Given the description of an element on the screen output the (x, y) to click on. 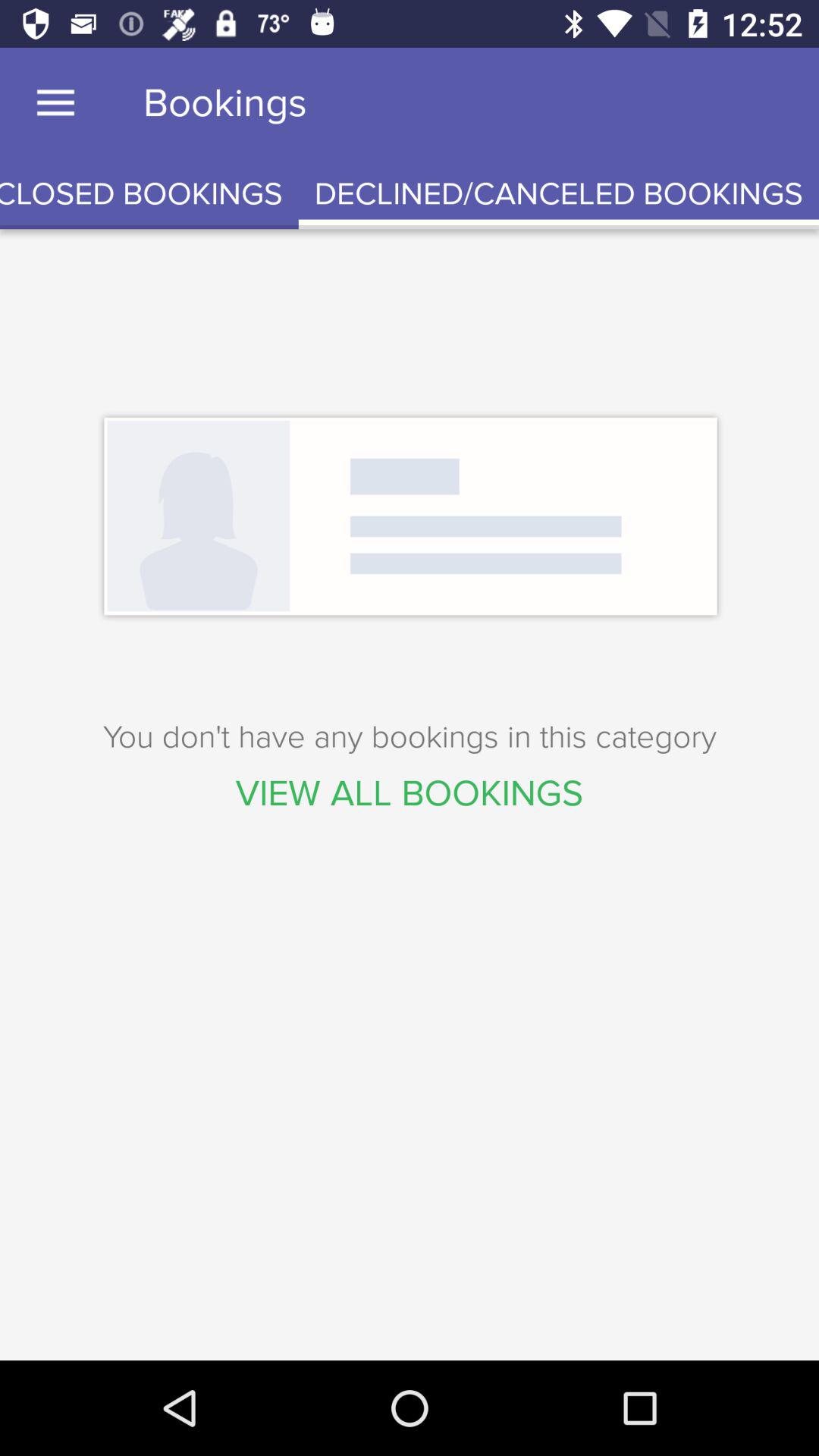
select expired/closed bookings item (149, 194)
